Given the description of an element on the screen output the (x, y) to click on. 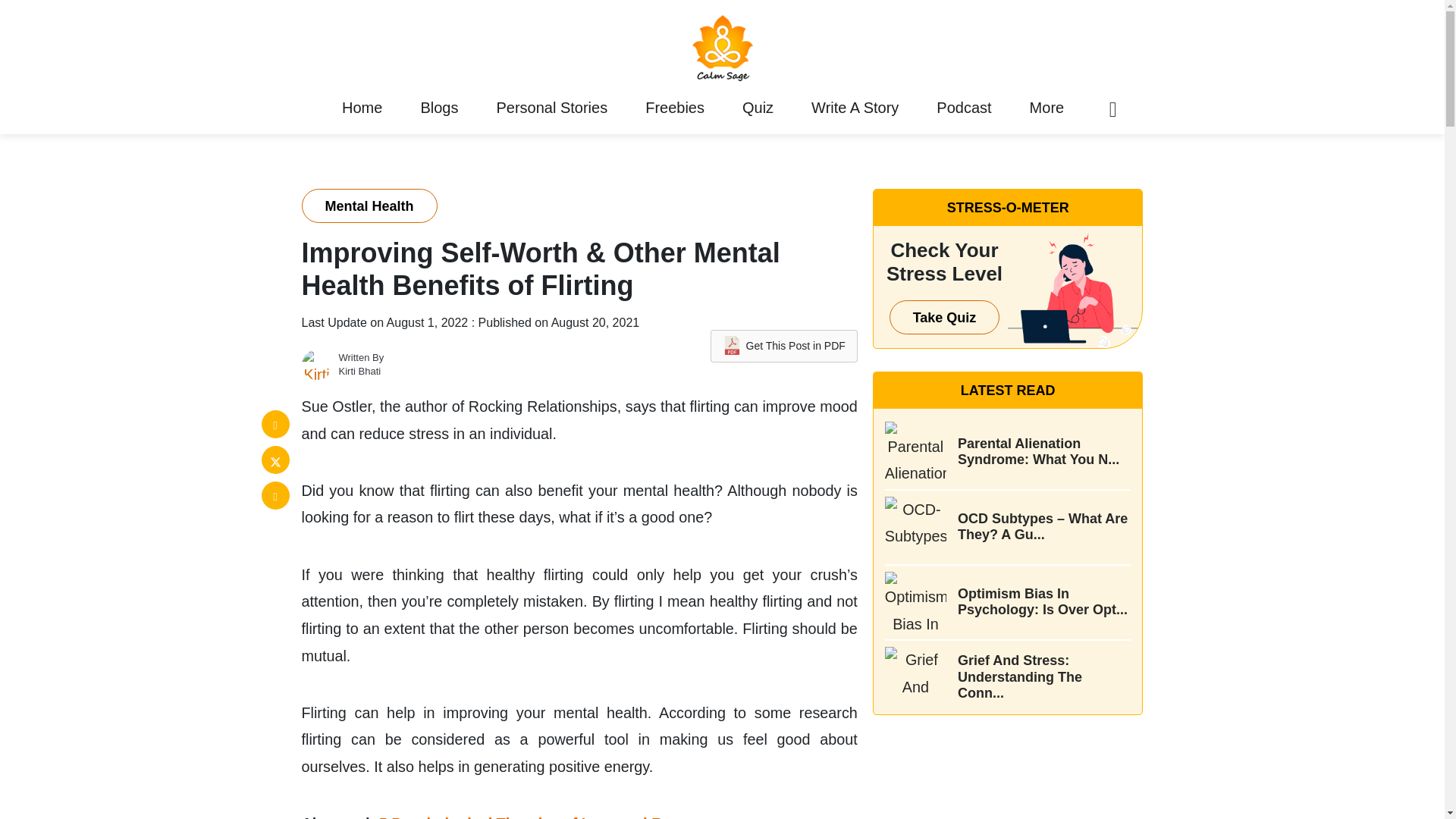
More (1046, 107)
SEARCH (1075, 408)
Take Quiz (944, 317)
Podcast (963, 107)
Kirti Bhati (358, 370)
Freebies (674, 107)
Personal Stories (551, 107)
Quiz (757, 107)
Mental Health (369, 205)
Write A Story (854, 107)
